Given the description of an element on the screen output the (x, y) to click on. 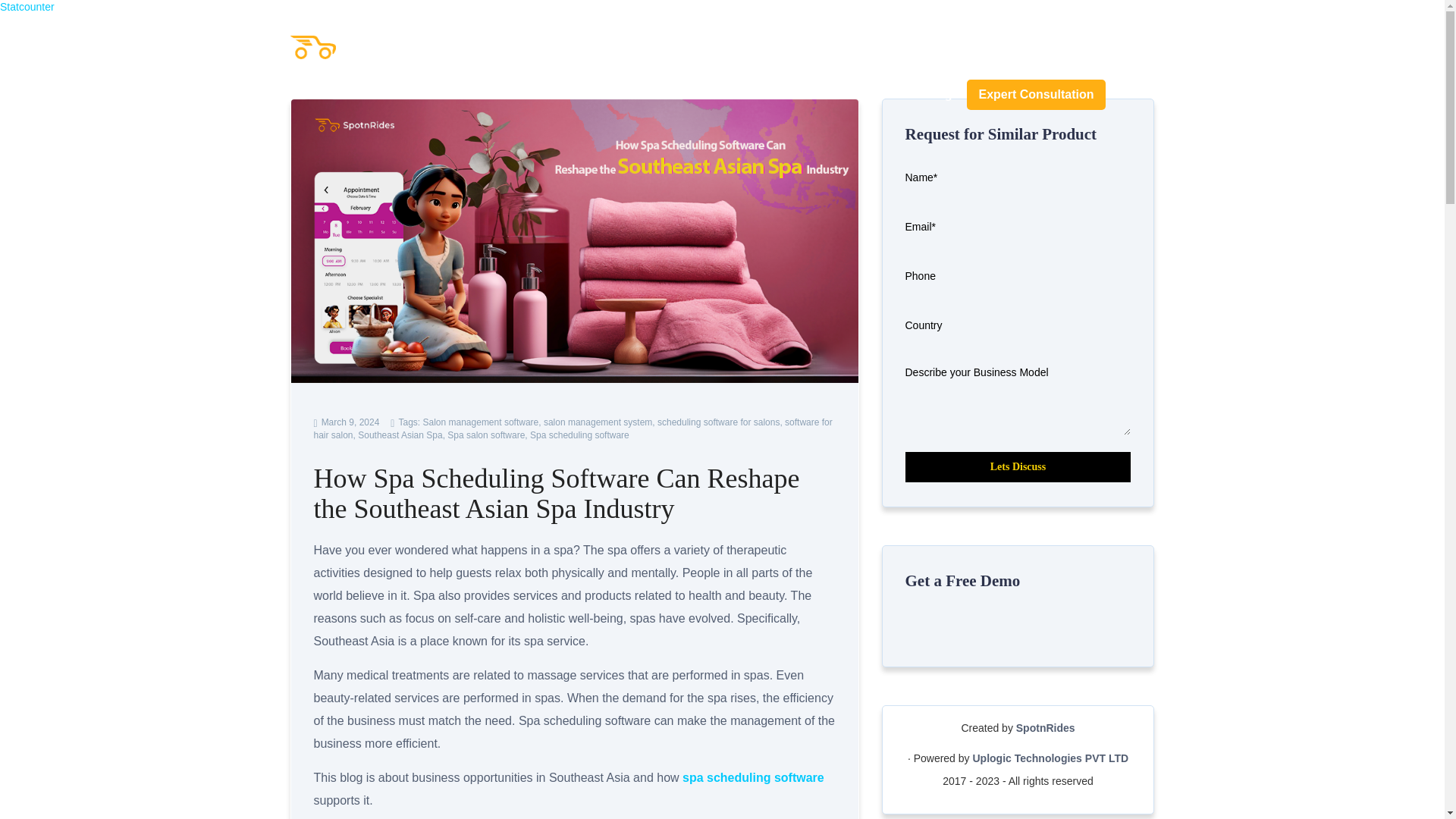
Expert Consultation (1035, 94)
Blog (923, 94)
spa scheduling software (753, 777)
Home (653, 94)
Southeast Asian Spa (400, 434)
software for hair salon (573, 428)
March 9, 2024 (347, 421)
Spa scheduling software (578, 434)
Spa salon software (485, 434)
Lets Discuss (1018, 467)
Salon management software (480, 421)
salon management system (597, 421)
Clone Scripts (836, 95)
Products (731, 95)
Statcounter (27, 6)
